Given the description of an element on the screen output the (x, y) to click on. 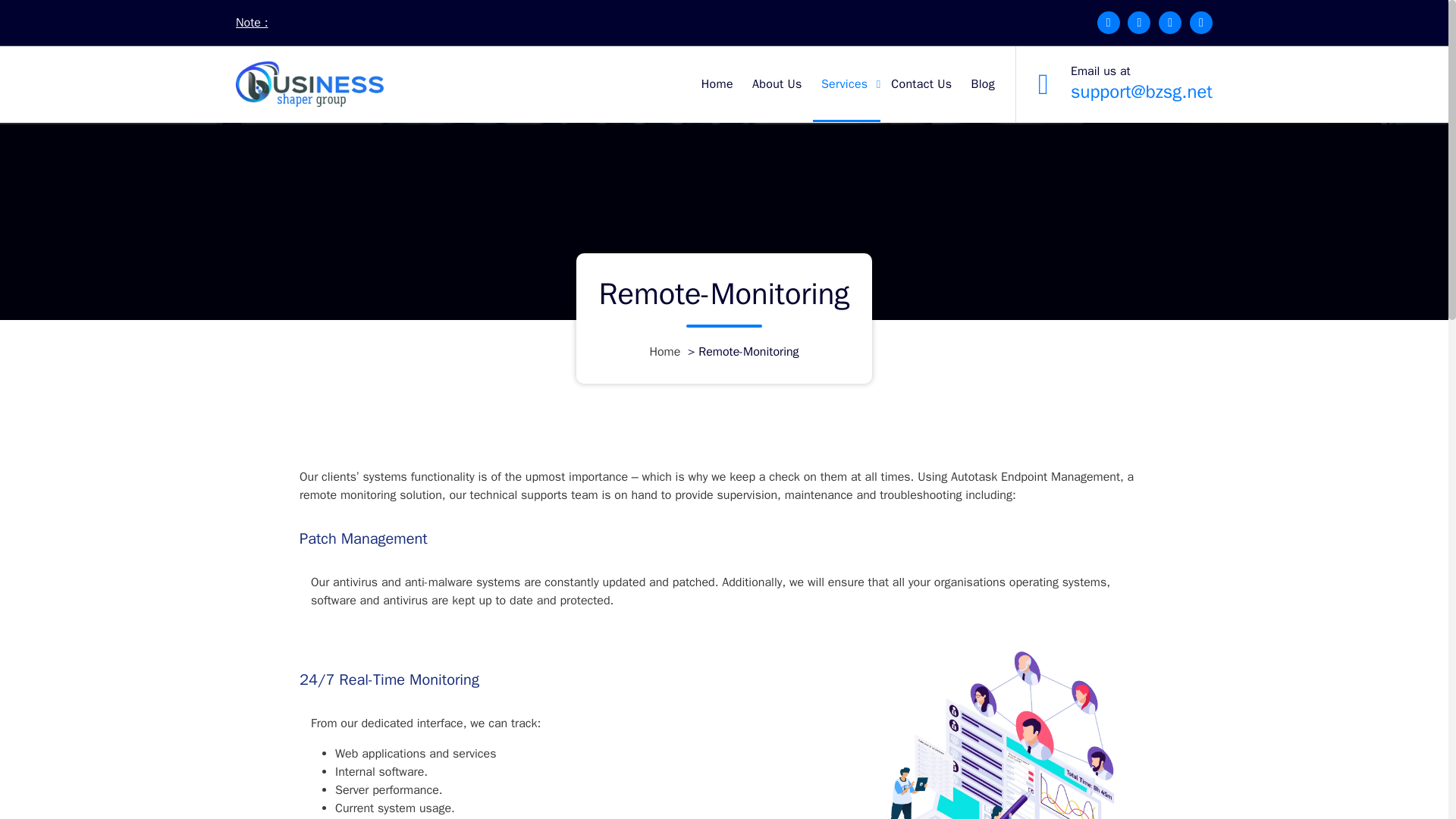
Home (664, 351)
Services (846, 83)
Services (846, 83)
Contact Us (920, 83)
Contact Us (920, 83)
